Given the description of an element on the screen output the (x, y) to click on. 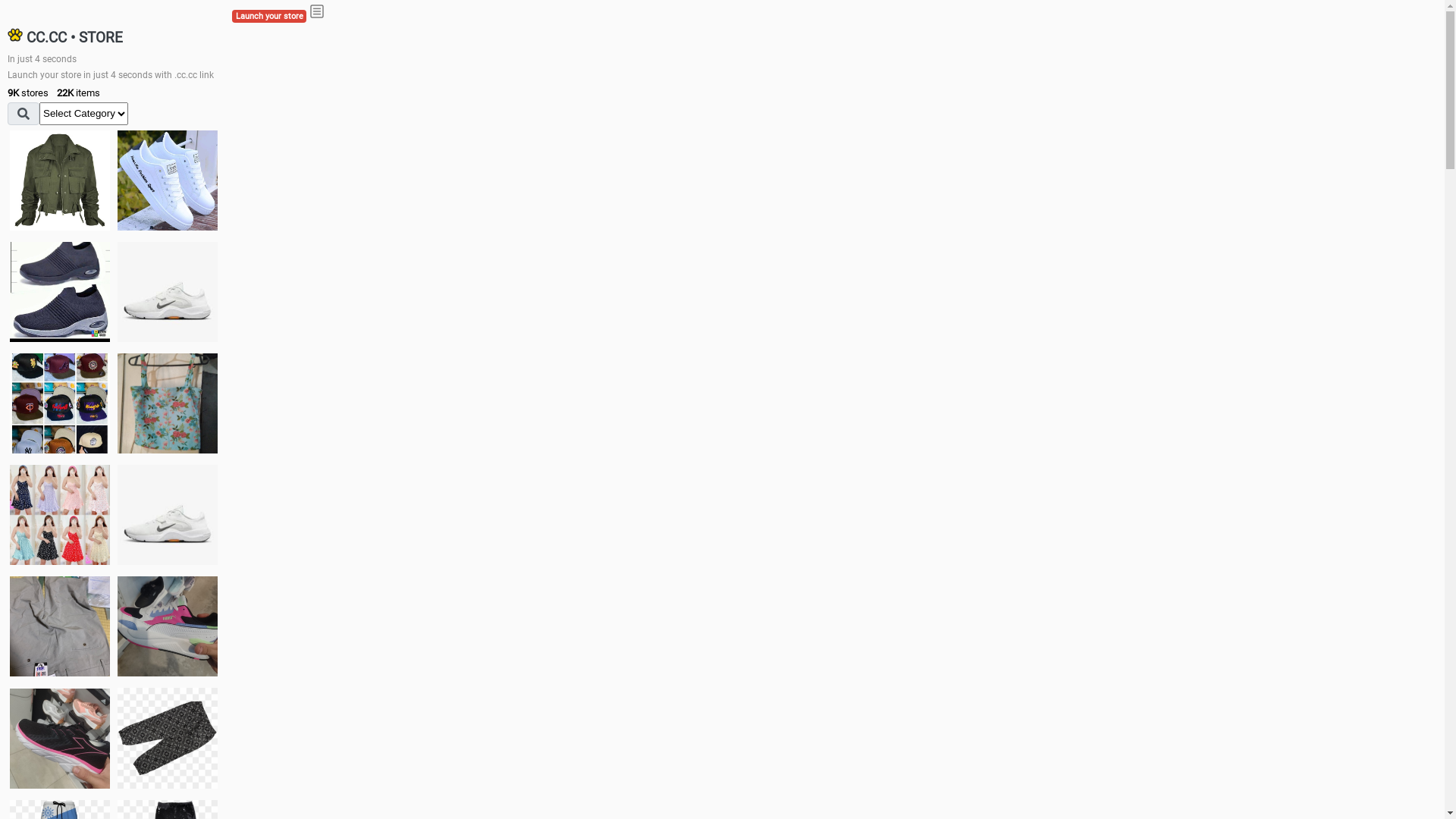
Zapatillas Element type: hover (59, 738)
Dress/square nect top Element type: hover (59, 514)
white shoes Element type: hover (167, 180)
Launch your store Element type: text (269, 15)
Ukay cloth Element type: hover (167, 403)
jacket Element type: hover (59, 180)
shoes for boys Element type: hover (59, 291)
Shoes for boys Element type: hover (167, 291)
Shoes Element type: hover (167, 514)
Zapatillas pumas Element type: hover (167, 626)
Short pant Element type: hover (167, 737)
Things we need Element type: hover (59, 403)
